Given the description of an element on the screen output the (x, y) to click on. 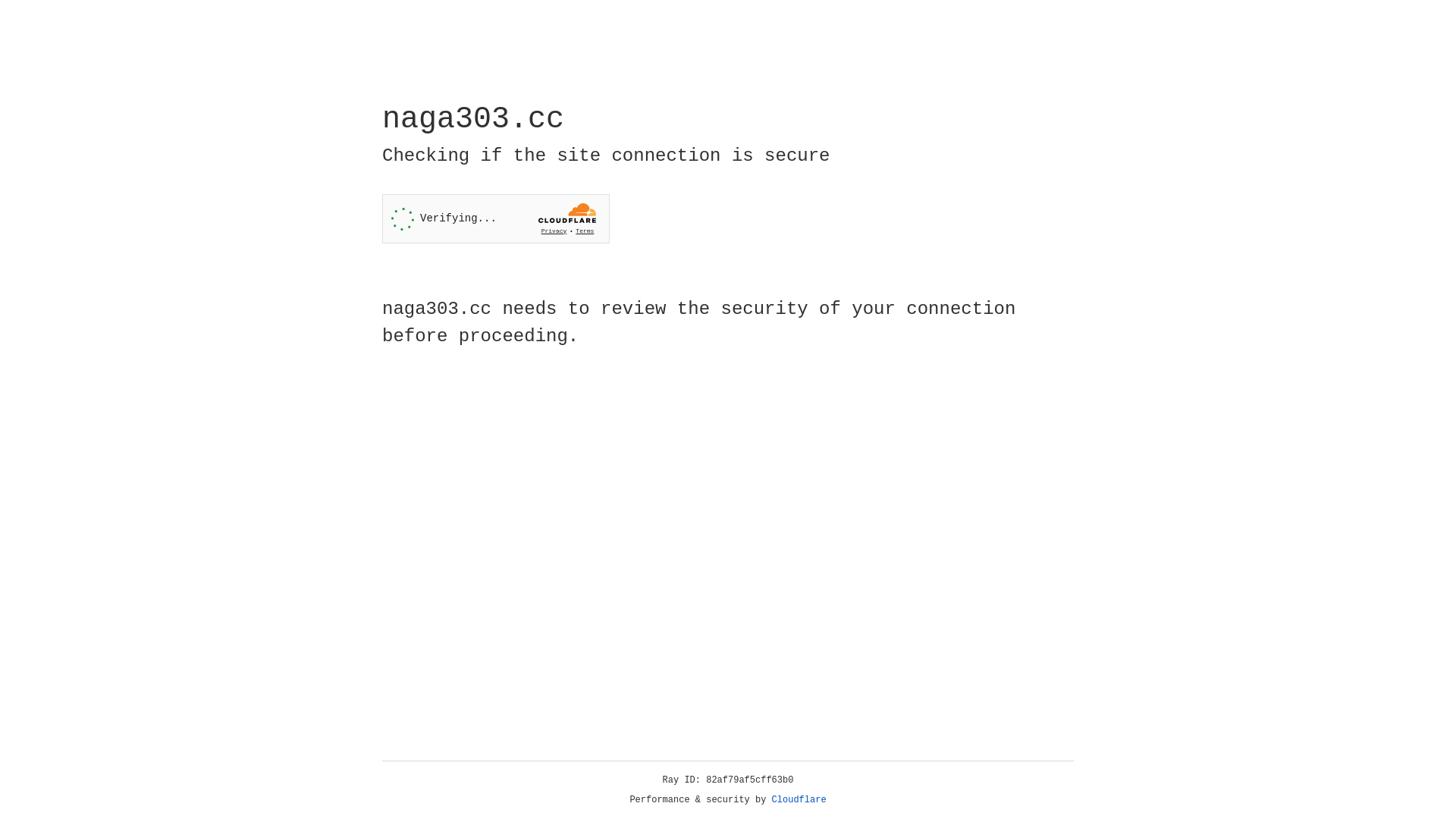
Cloudflare Element type: text (798, 799)
Widget containing a Cloudflare security challenge Element type: hover (495, 218)
